Given the description of an element on the screen output the (x, y) to click on. 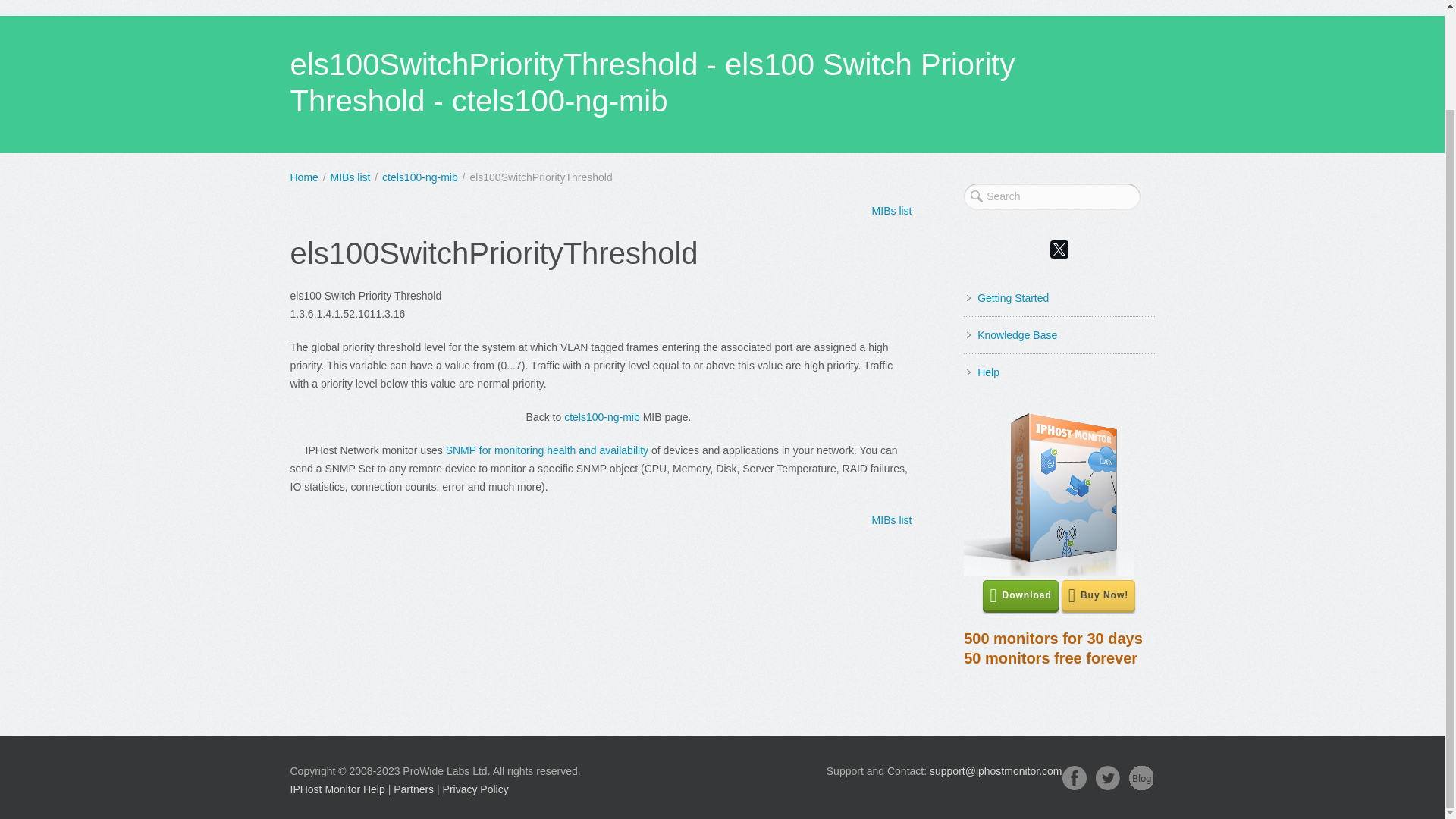
Getting Started (1012, 297)
IPHost Monitor Help (336, 788)
Home (303, 177)
Download (1020, 594)
SNMP for monitoring health and availability (546, 450)
Knowledge Base (1016, 335)
MIBs list (892, 210)
Help (1052, 647)
Subscribe to Twitter Feed (987, 372)
Read and comment our blog (1106, 777)
Follow on Facebook (1140, 777)
MIBs list (1073, 777)
Partners (892, 520)
Twitter (413, 788)
